Given the description of an element on the screen output the (x, y) to click on. 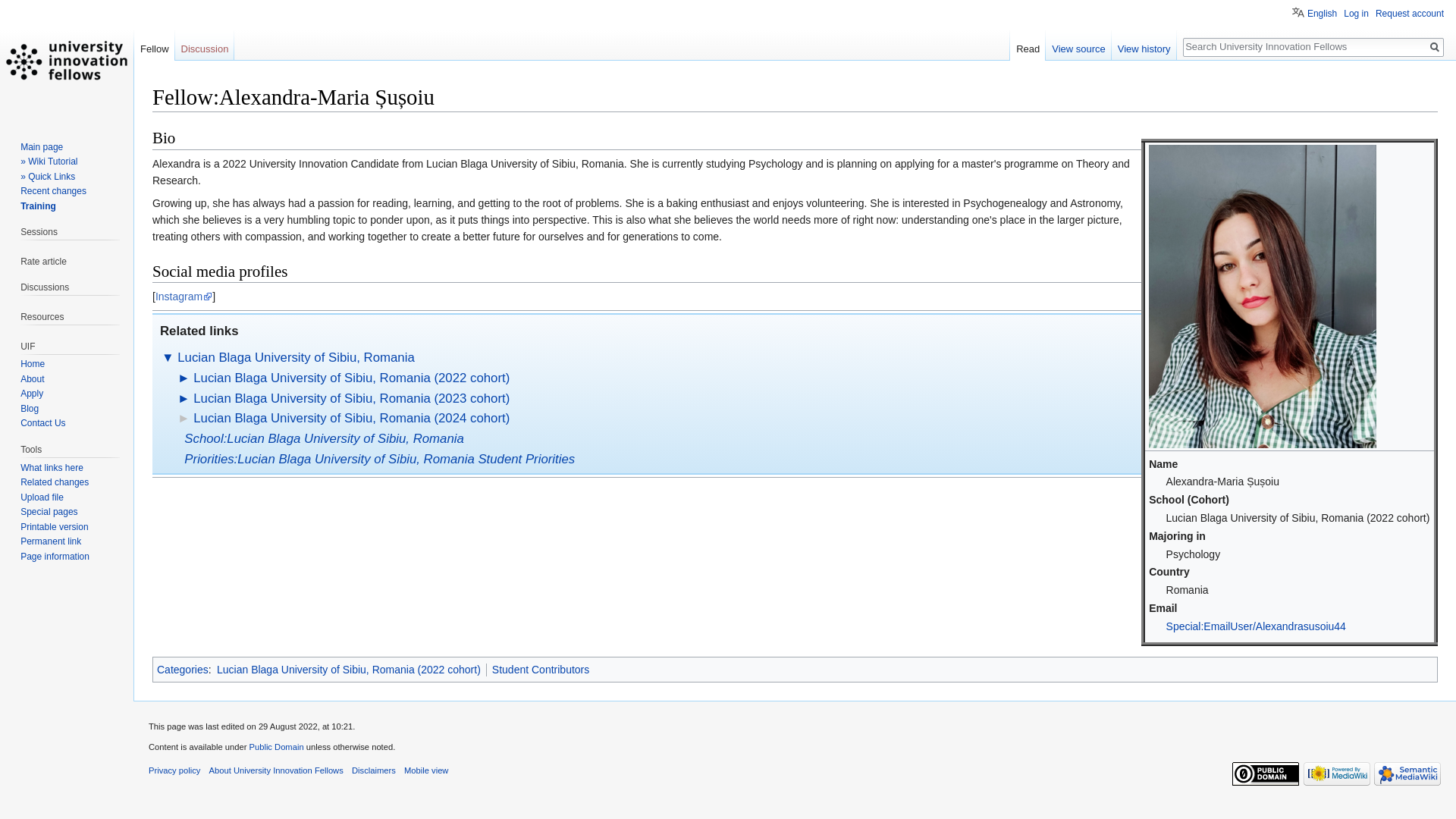
View history (1144, 45)
Main page (41, 146)
Apply (31, 393)
Category:Student Contributors (540, 669)
Search (1434, 46)
Instagram (183, 296)
Fellow (153, 45)
Search (1434, 46)
Upload file (42, 497)
